Given the description of an element on the screen output the (x, y) to click on. 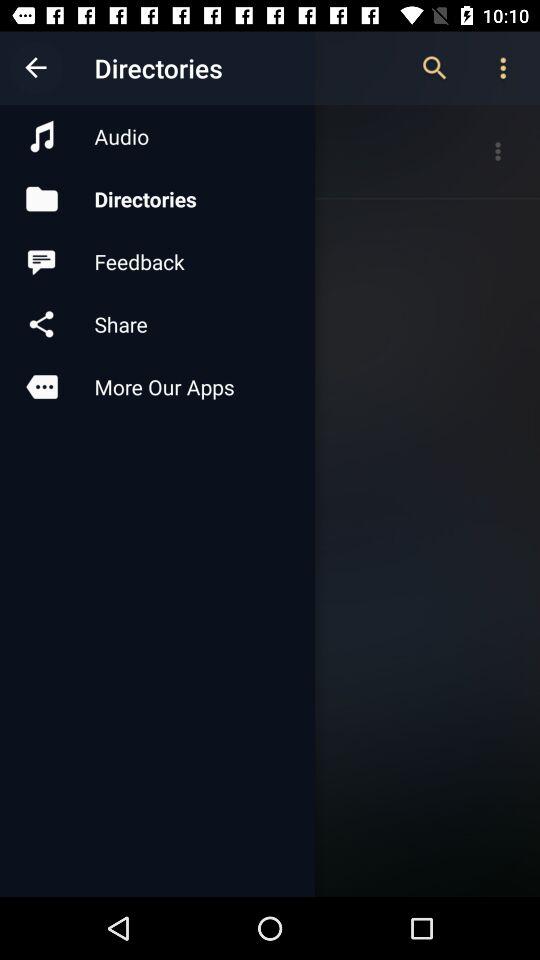
launch icon below the directories (157, 261)
